Given the description of an element on the screen output the (x, y) to click on. 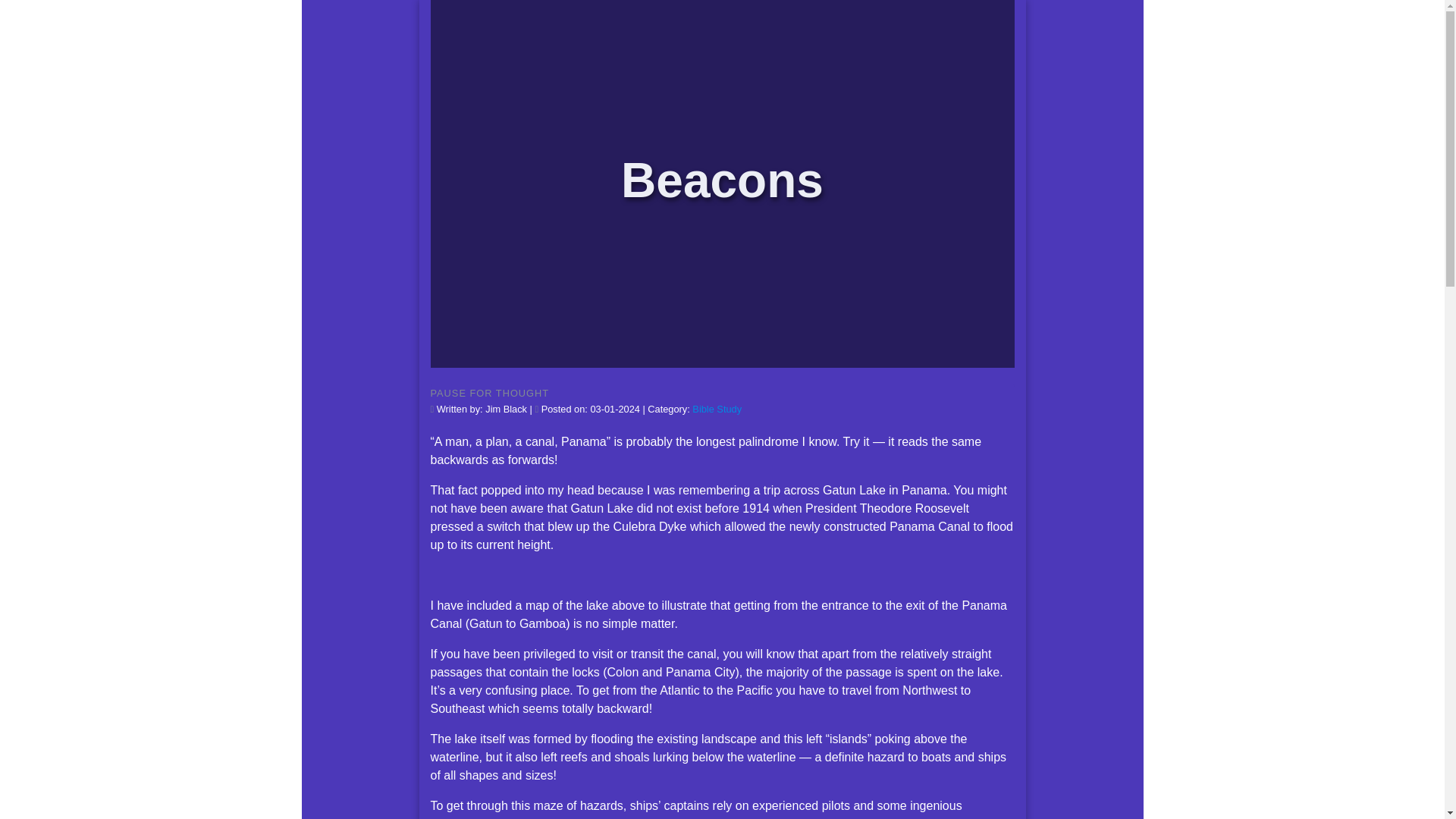
Bible Study (717, 408)
